Given the description of an element on the screen output the (x, y) to click on. 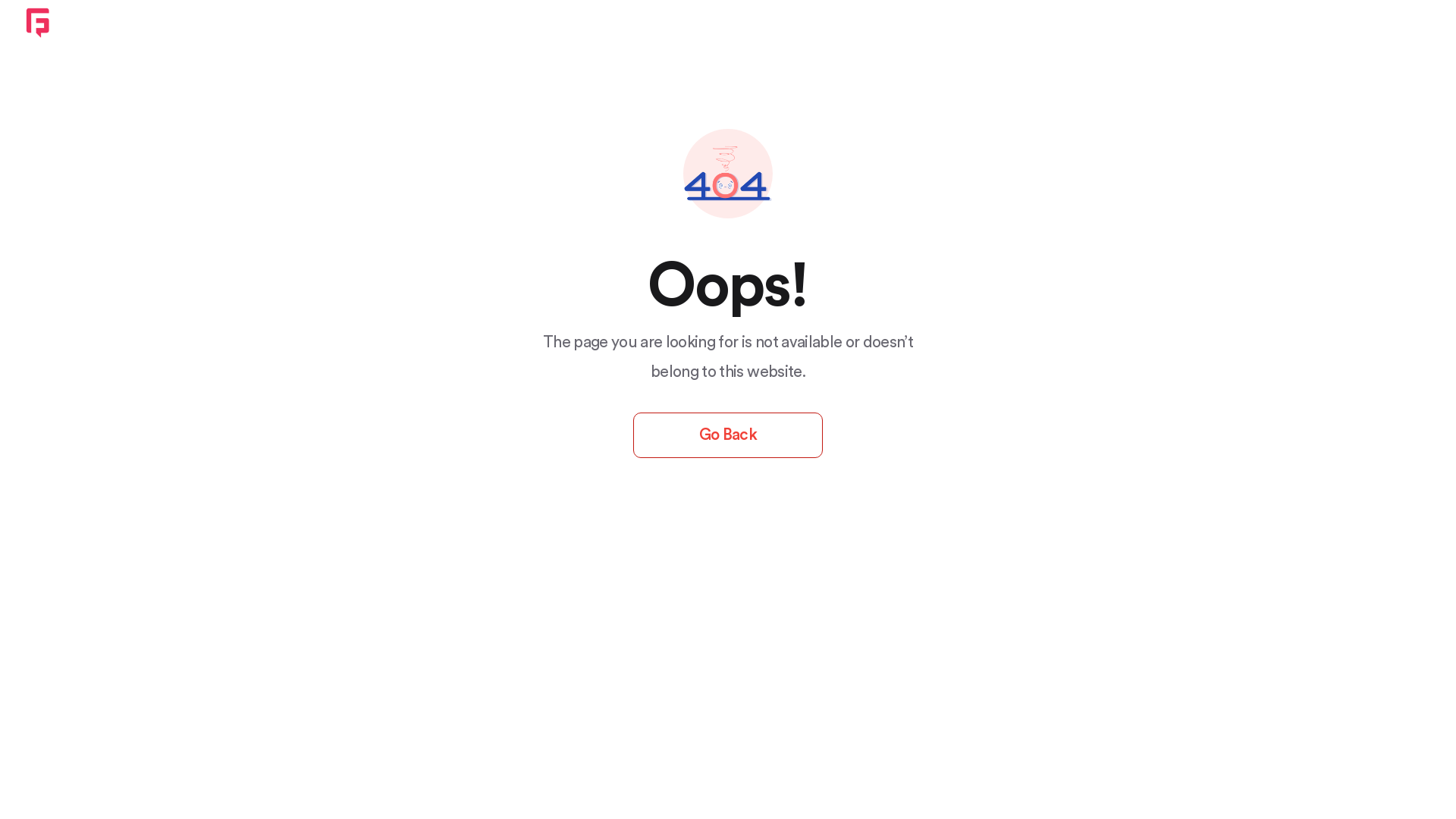
Go Back Element type: text (727, 435)
